Given the description of an element on the screen output the (x, y) to click on. 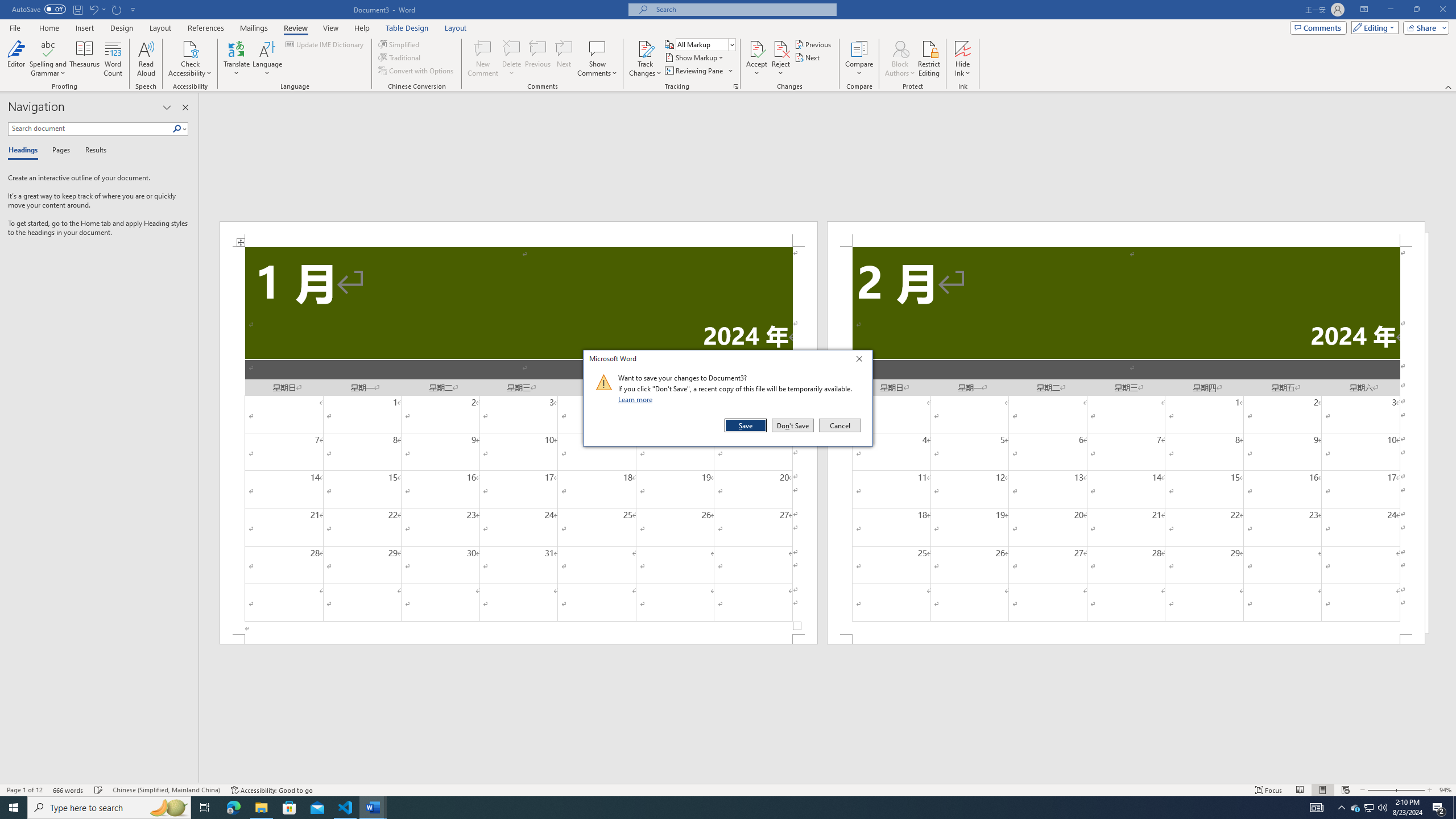
Spelling and Grammar (48, 48)
Class: NetUIScrollBar (827, 778)
Hide Ink (962, 48)
Open (731, 44)
Hide Ink (962, 58)
Compare (1355, 807)
Next (859, 58)
